Given the description of an element on the screen output the (x, y) to click on. 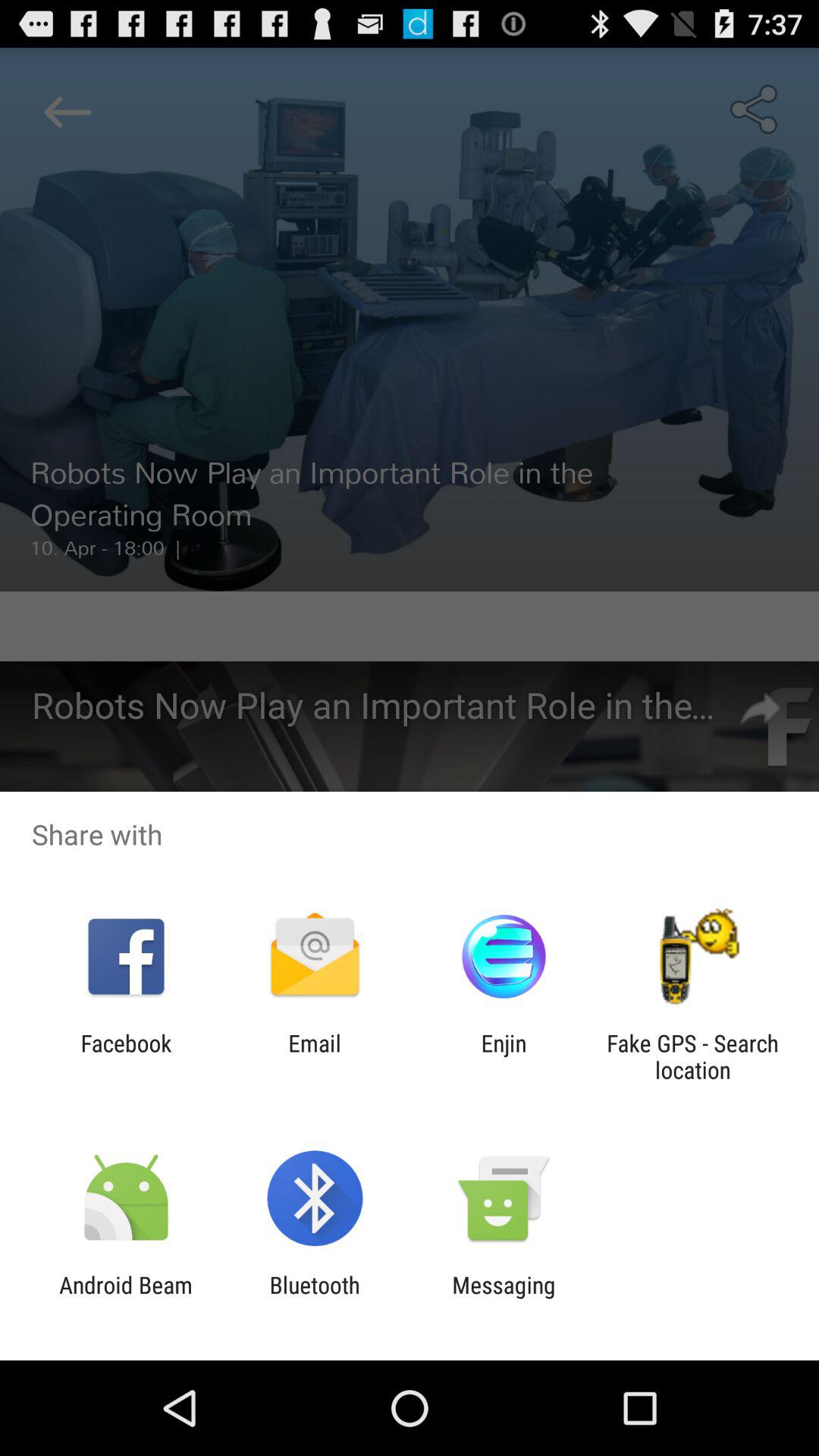
click the app to the left of fake gps search (503, 1056)
